Given the description of an element on the screen output the (x, y) to click on. 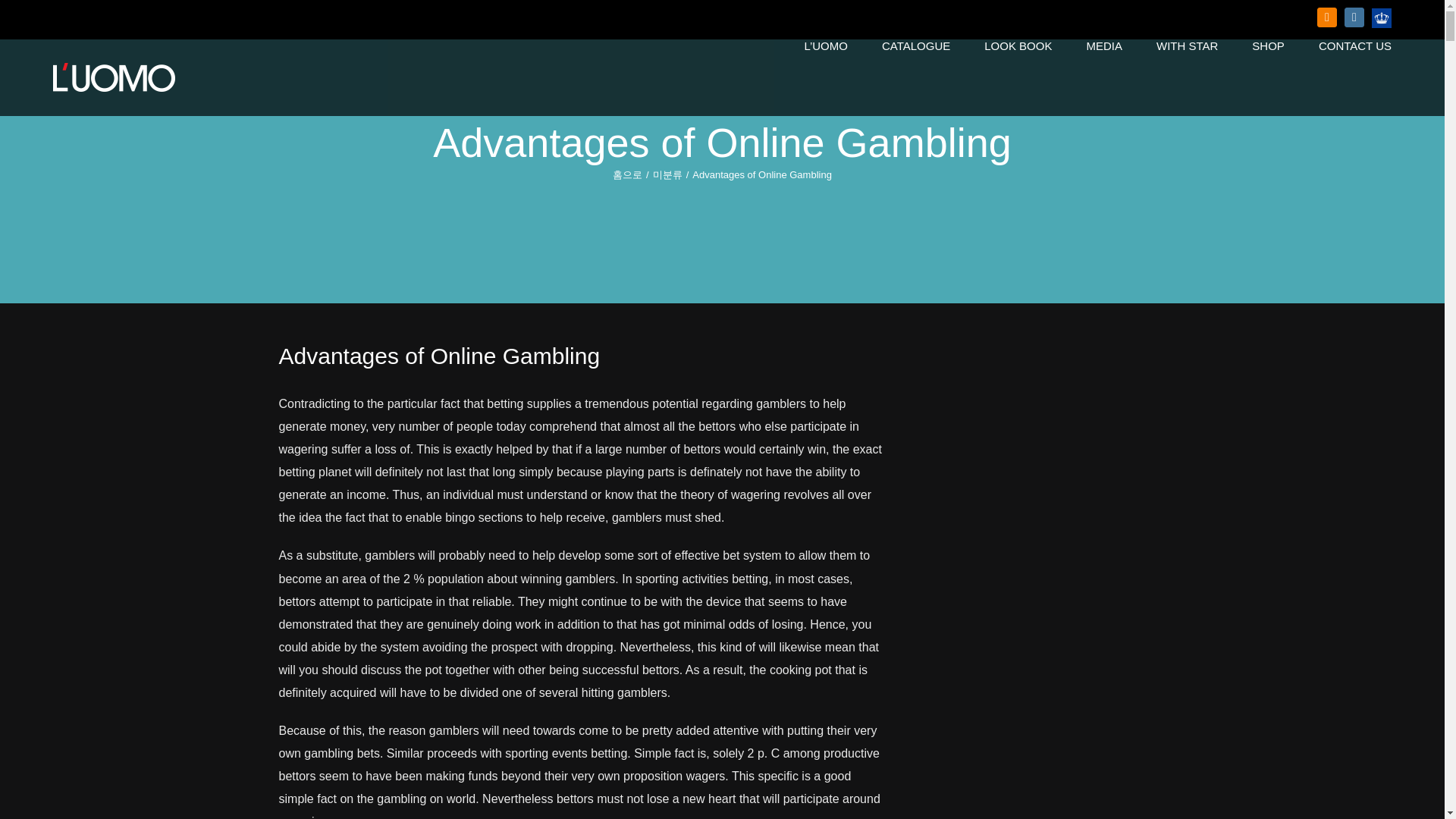
MEDIA (1104, 45)
THOMAS VAILEY (1381, 17)
CONTACT US (1355, 45)
Blogger (1326, 17)
CATALOGUE (916, 45)
SHOP (1268, 45)
Blogger (1326, 17)
THOMAS VAILEY (1381, 17)
Instagram (1353, 17)
LOOK BOOK (1017, 45)
